Given the description of an element on the screen output the (x, y) to click on. 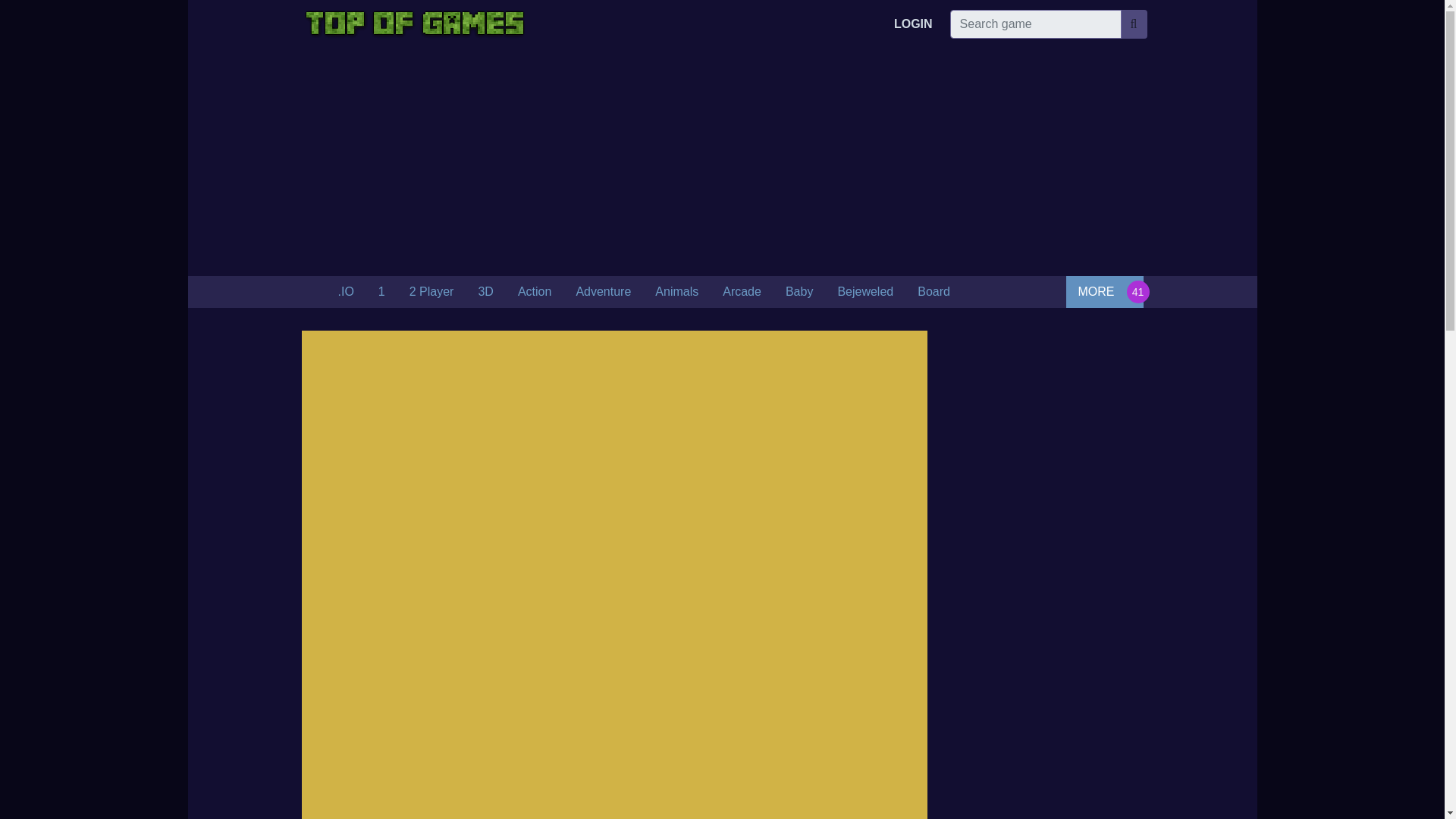
Bejeweled (865, 291)
MORE (1103, 291)
.IO (346, 291)
Baby (799, 291)
Board (933, 291)
2 Player (431, 291)
LOGIN (913, 24)
Adventure (603, 291)
Action (534, 291)
Animals (676, 291)
1 (381, 291)
Arcade (741, 291)
3D (485, 291)
